Given the description of an element on the screen output the (x, y) to click on. 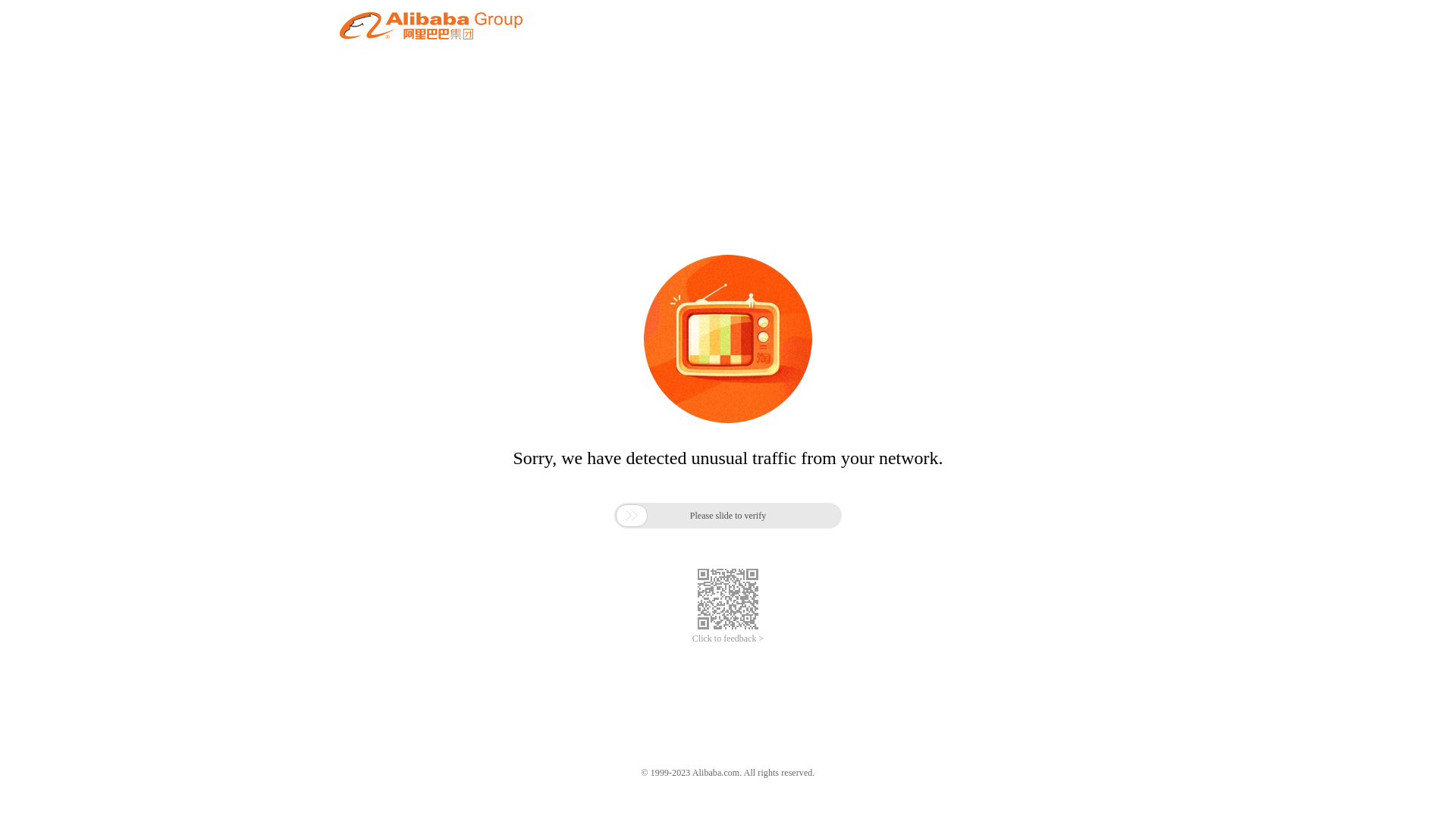
Click to feedback > Element type: text (727, 638)
